Given the description of an element on the screen output the (x, y) to click on. 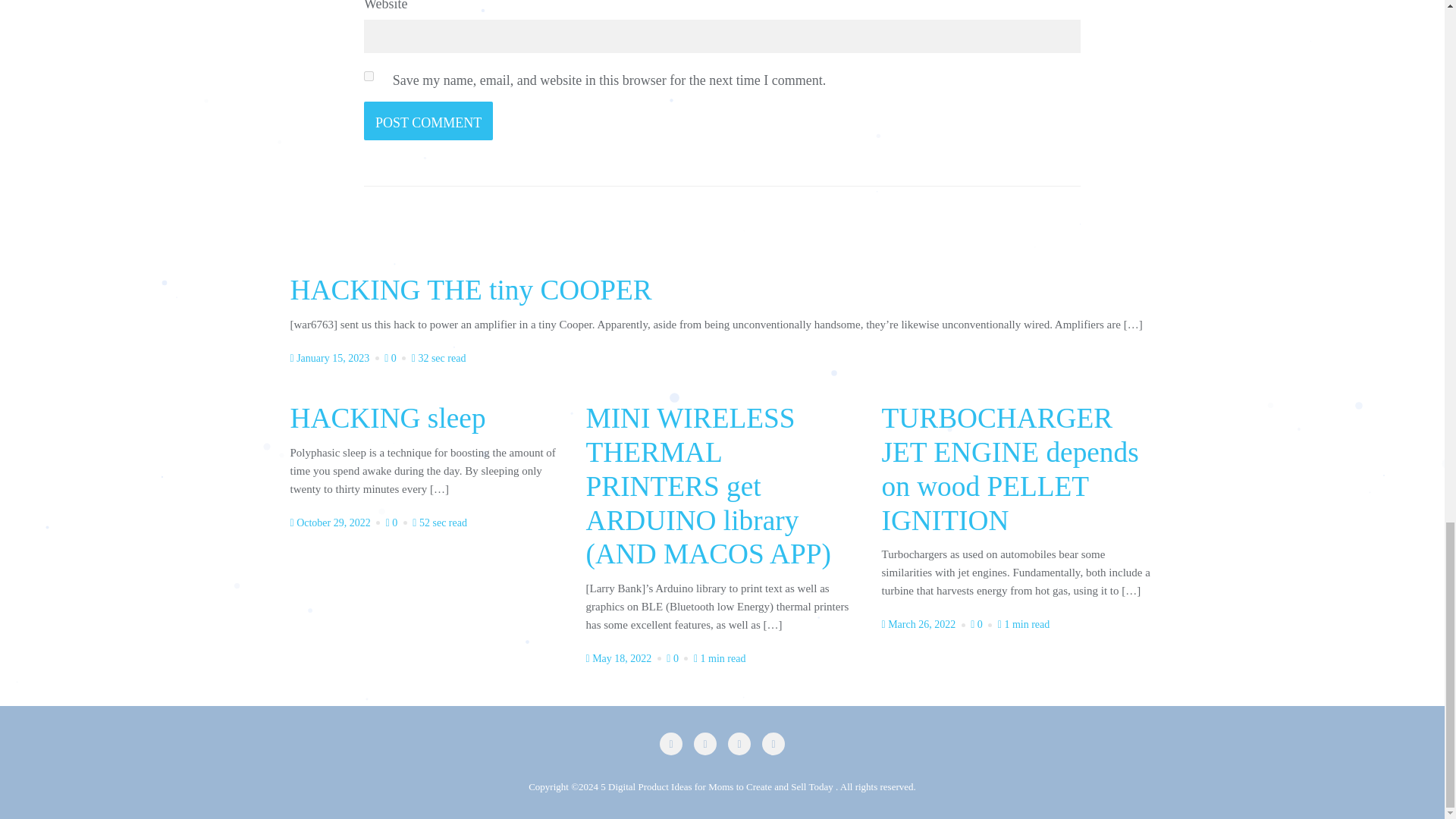
0 (982, 624)
HACKING THE tiny COOPER (469, 292)
0 (396, 357)
May 18, 2022 (624, 658)
Post Comment (428, 120)
TURBOCHARGER JET ENGINE depends on wood PELLET IGNITION (1009, 470)
1 min read (1023, 624)
Post Comment (428, 120)
January 15, 2023 (335, 357)
1 min read (719, 658)
52 sec read (439, 522)
0 (678, 658)
October 29, 2022 (335, 522)
32 sec read (438, 357)
yes (369, 76)
